Given the description of an element on the screen output the (x, y) to click on. 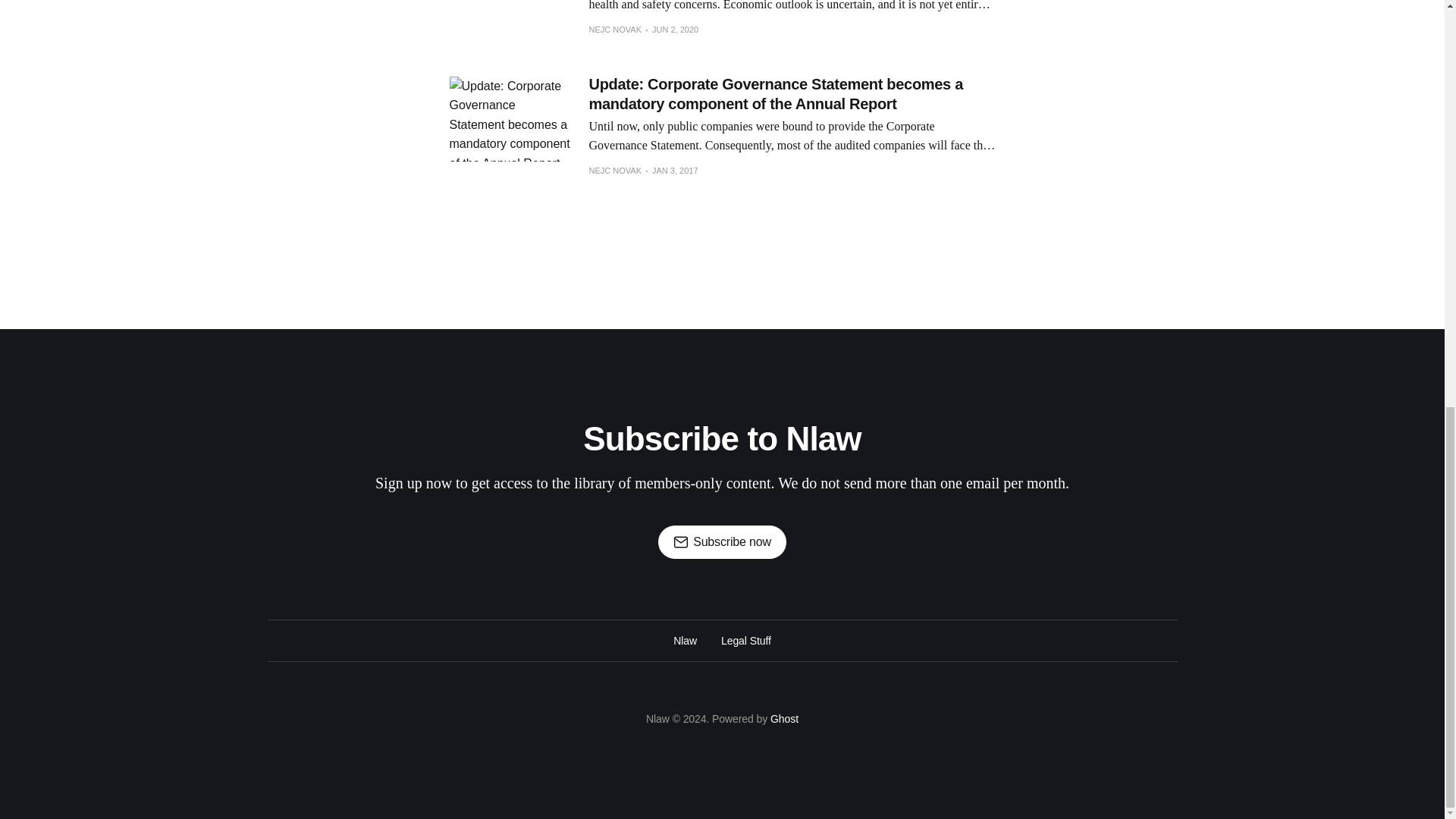
Legal Stuff (745, 640)
Nlaw (684, 640)
Ghost (783, 718)
Subscribe now (722, 541)
